Given the description of an element on the screen output the (x, y) to click on. 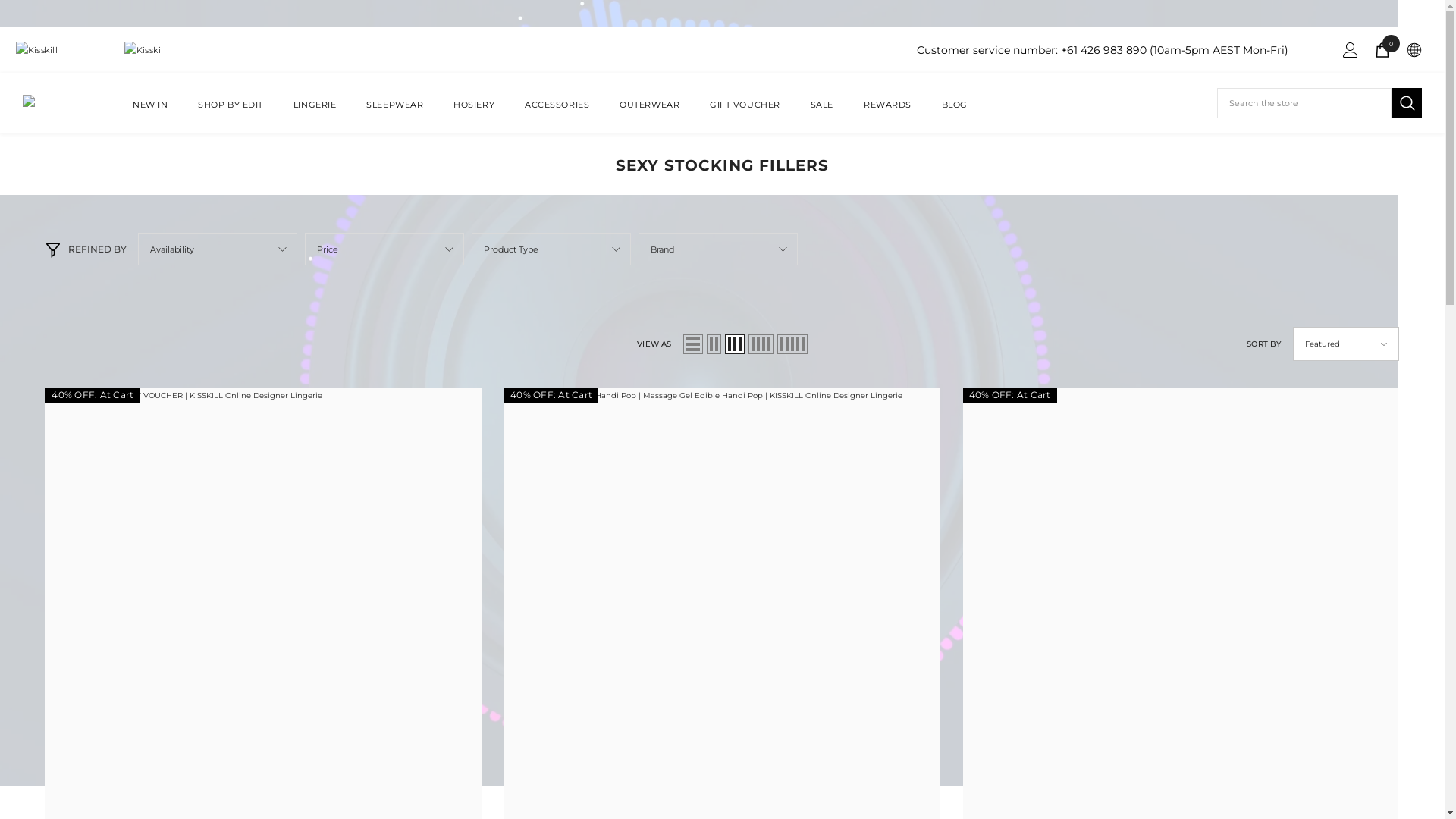
Cart
0
0 items Element type: text (1382, 49)
REWARDS Element type: text (887, 113)
Log in Element type: text (1350, 49)
OUTERWEAR Element type: text (649, 113)
NEW IN Element type: text (149, 113)
BLOG Element type: text (954, 113)
GIFT VOUCHER Element type: text (744, 113)
HOSIERY Element type: text (473, 113)
ACCESSORIES Element type: text (556, 113)
SALE Element type: text (821, 113)
Language Currency Element type: hover (1413, 49)
LINGERIE Element type: text (314, 113)
SHOP BY EDIT Element type: text (230, 113)
SLEEPWEAR Element type: text (394, 113)
